Given the description of an element on the screen output the (x, y) to click on. 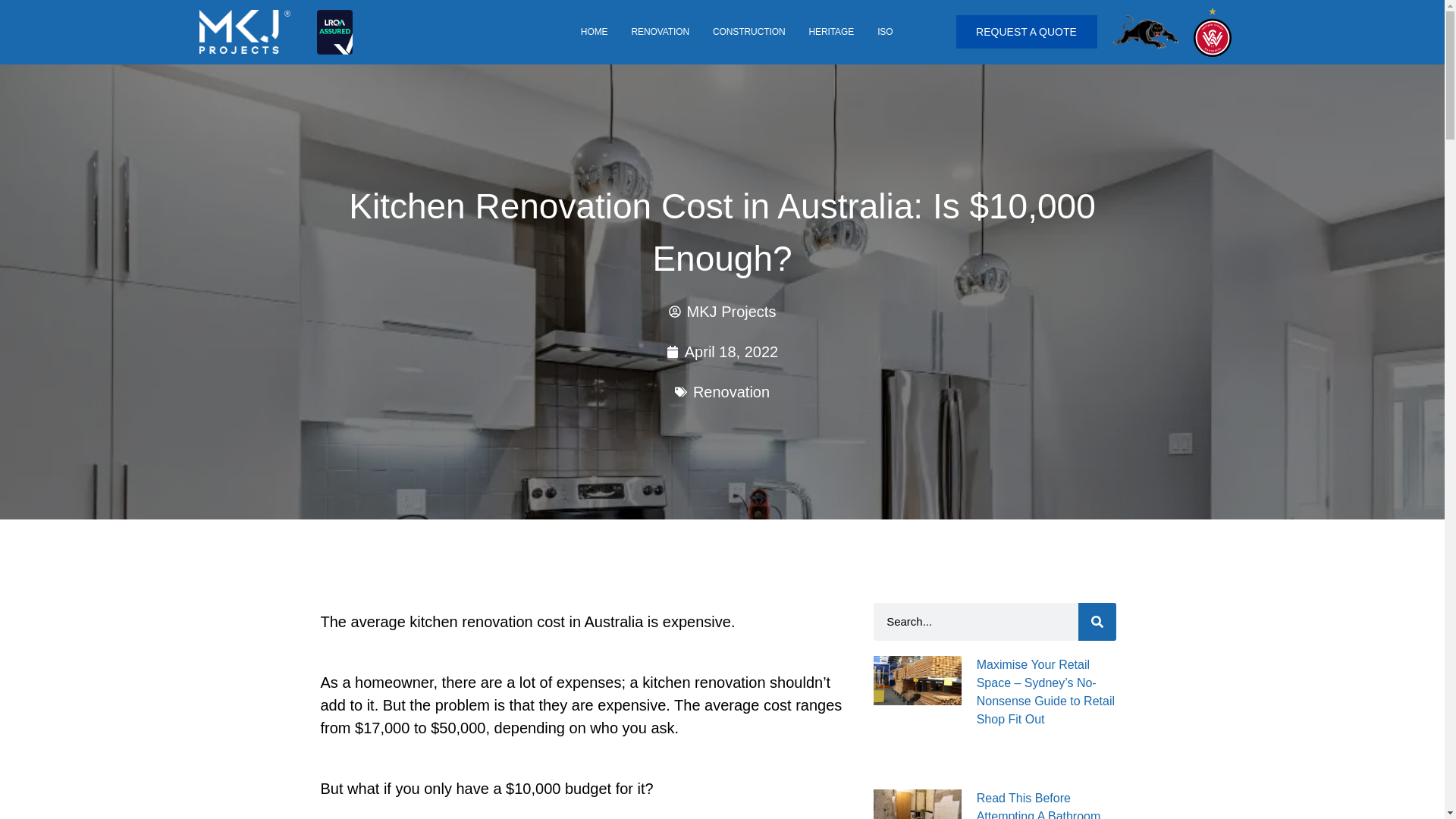
Renovation (731, 392)
April 18, 2022 (721, 351)
HOME (593, 32)
REQUEST A QUOTE (1025, 31)
HERITAGE (831, 32)
RENOVATION (660, 32)
CONSTRUCTION (748, 32)
ISO (885, 32)
MKJ Projects (722, 311)
